Given the description of an element on the screen output the (x, y) to click on. 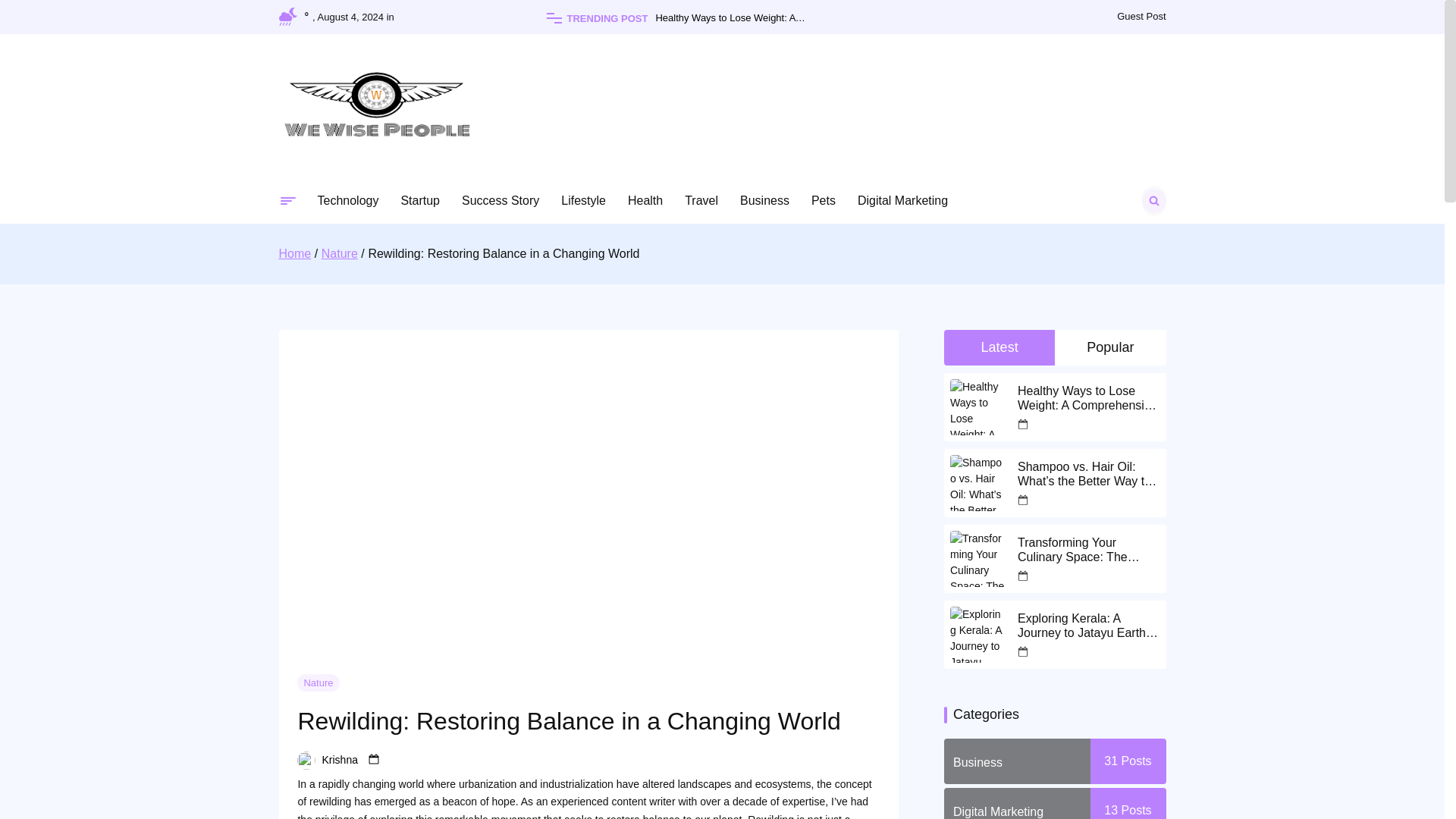
Startup (419, 200)
Success Story (500, 200)
Technology (347, 200)
Lifestyle (583, 200)
Business (764, 200)
Healthy Ways to Lose Weight: A Comprehensive Guide (756, 18)
Guest Post (1141, 16)
